Given the description of an element on the screen output the (x, y) to click on. 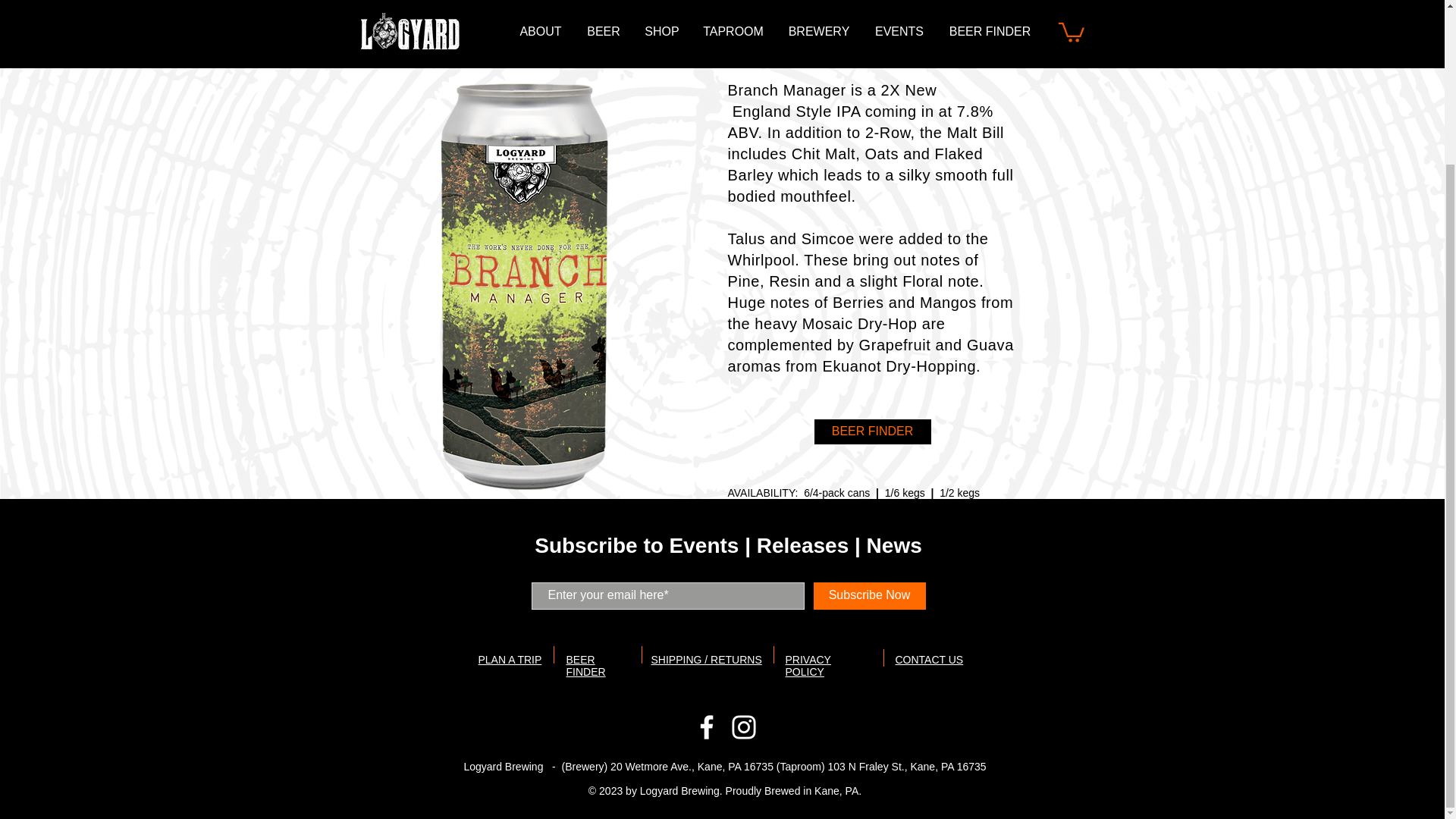
BEER FINDER (585, 665)
CONTACT US (928, 659)
BEER FINDER (872, 431)
PLAN A TRIP (509, 659)
PRIVACY POLICY (808, 665)
Subscribe Now (868, 595)
